Given the description of an element on the screen output the (x, y) to click on. 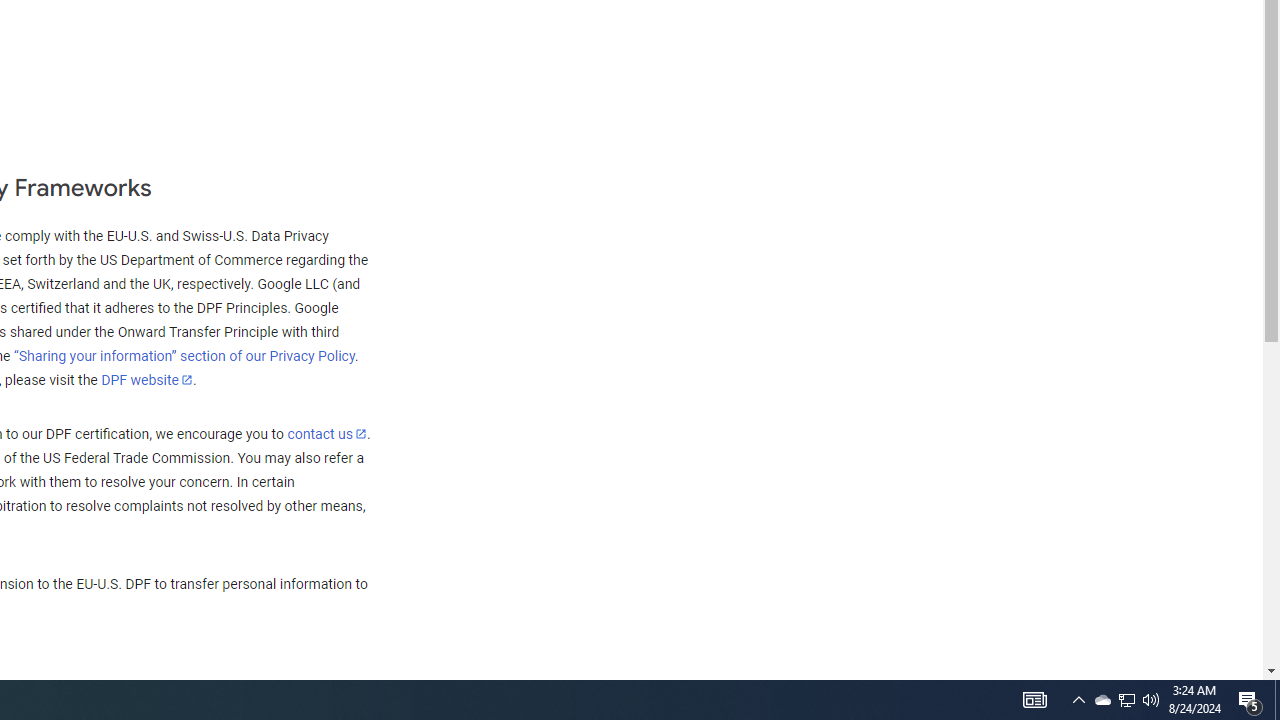
contact us (326, 433)
DPF website (147, 379)
